Given the description of an element on the screen output the (x, y) to click on. 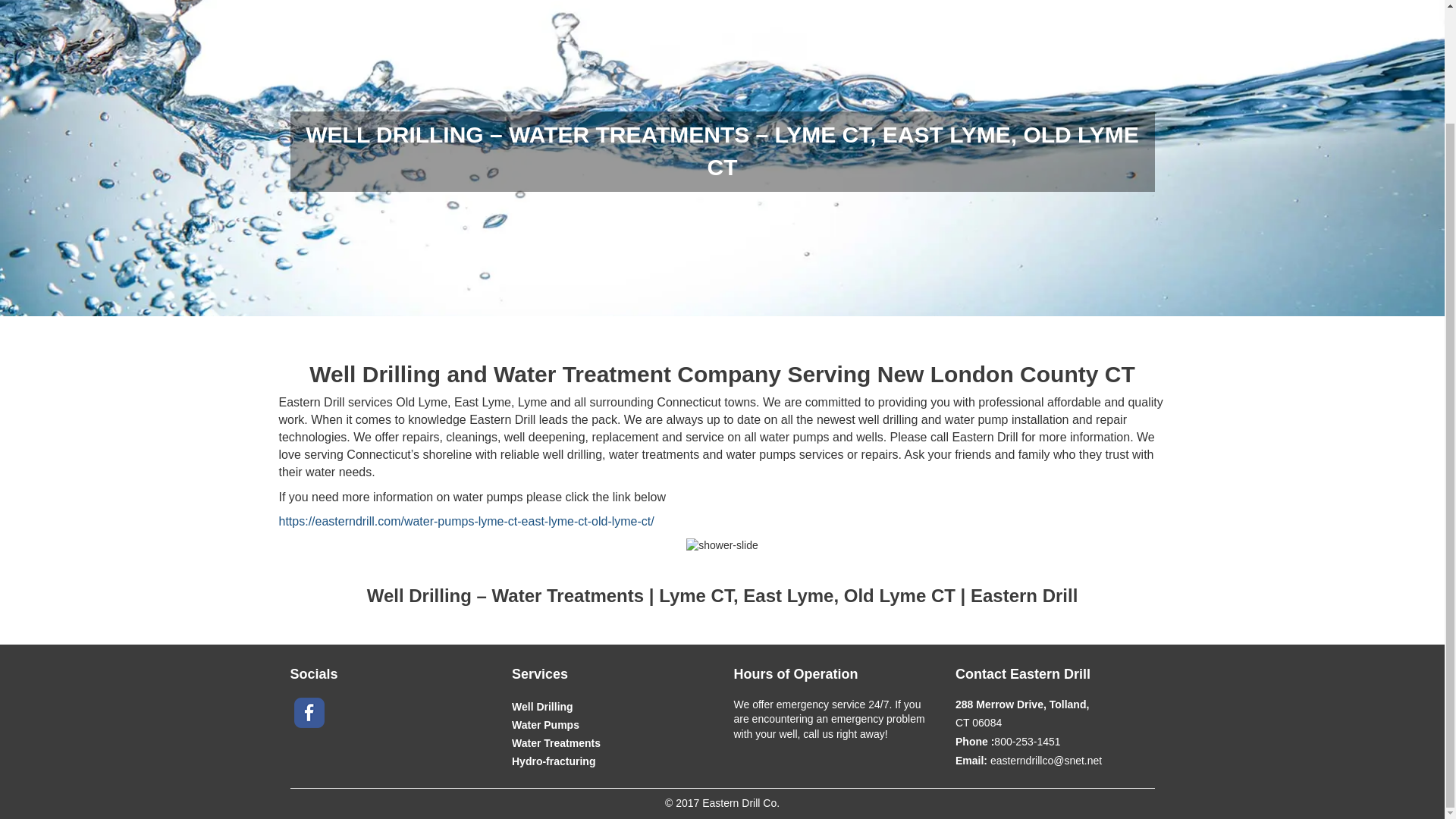
Water Treatments (555, 742)
Hydro-fracturing (553, 760)
Well Drilling (542, 705)
Water Pumps (545, 724)
